Given the description of an element on the screen output the (x, y) to click on. 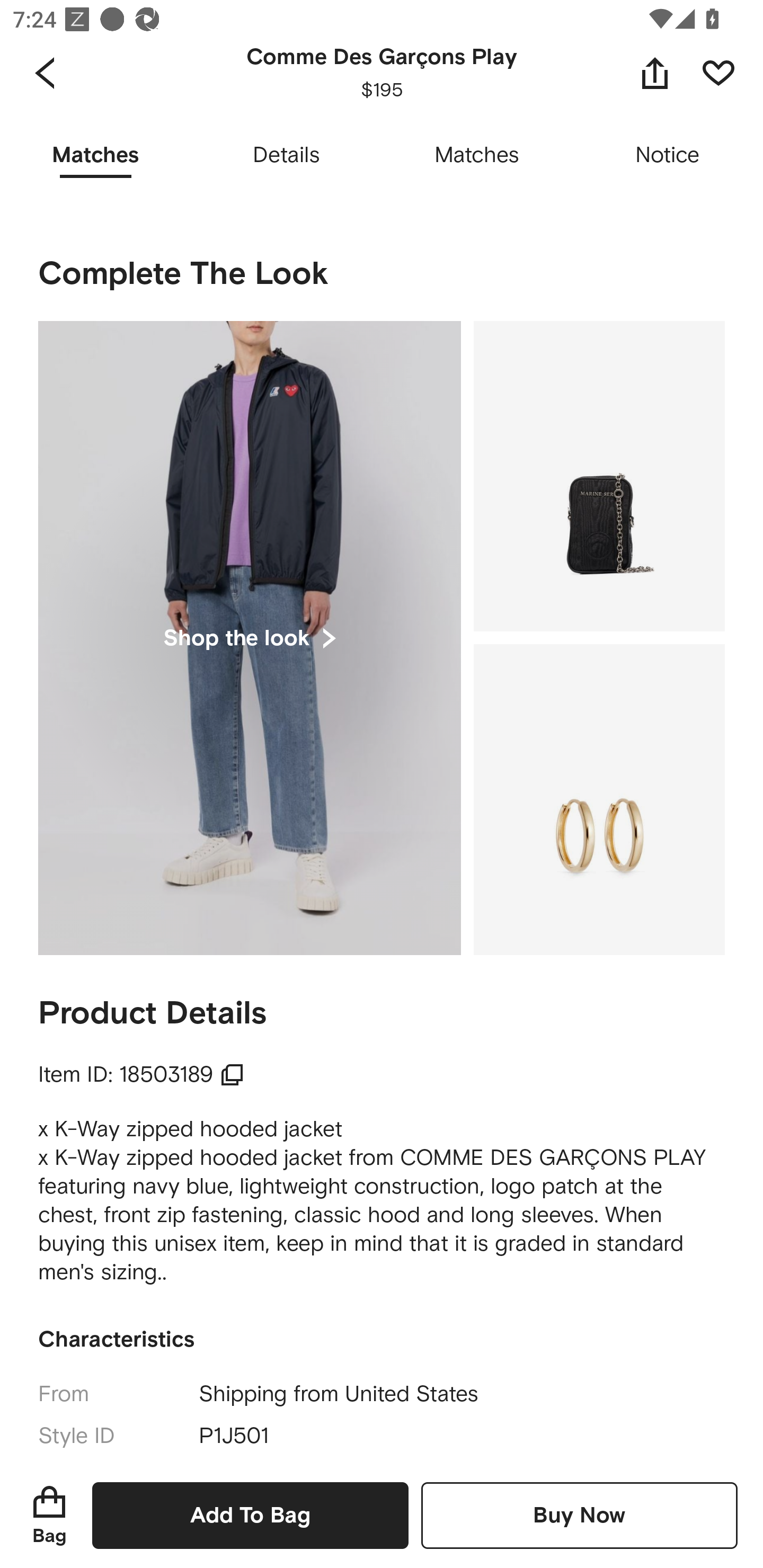
Details (285, 155)
Matches (476, 155)
Notice (667, 155)
Item ID: 18503189 (141, 1074)
Bag (49, 1515)
Add To Bag (250, 1515)
Buy Now (579, 1515)
